Given the description of an element on the screen output the (x, y) to click on. 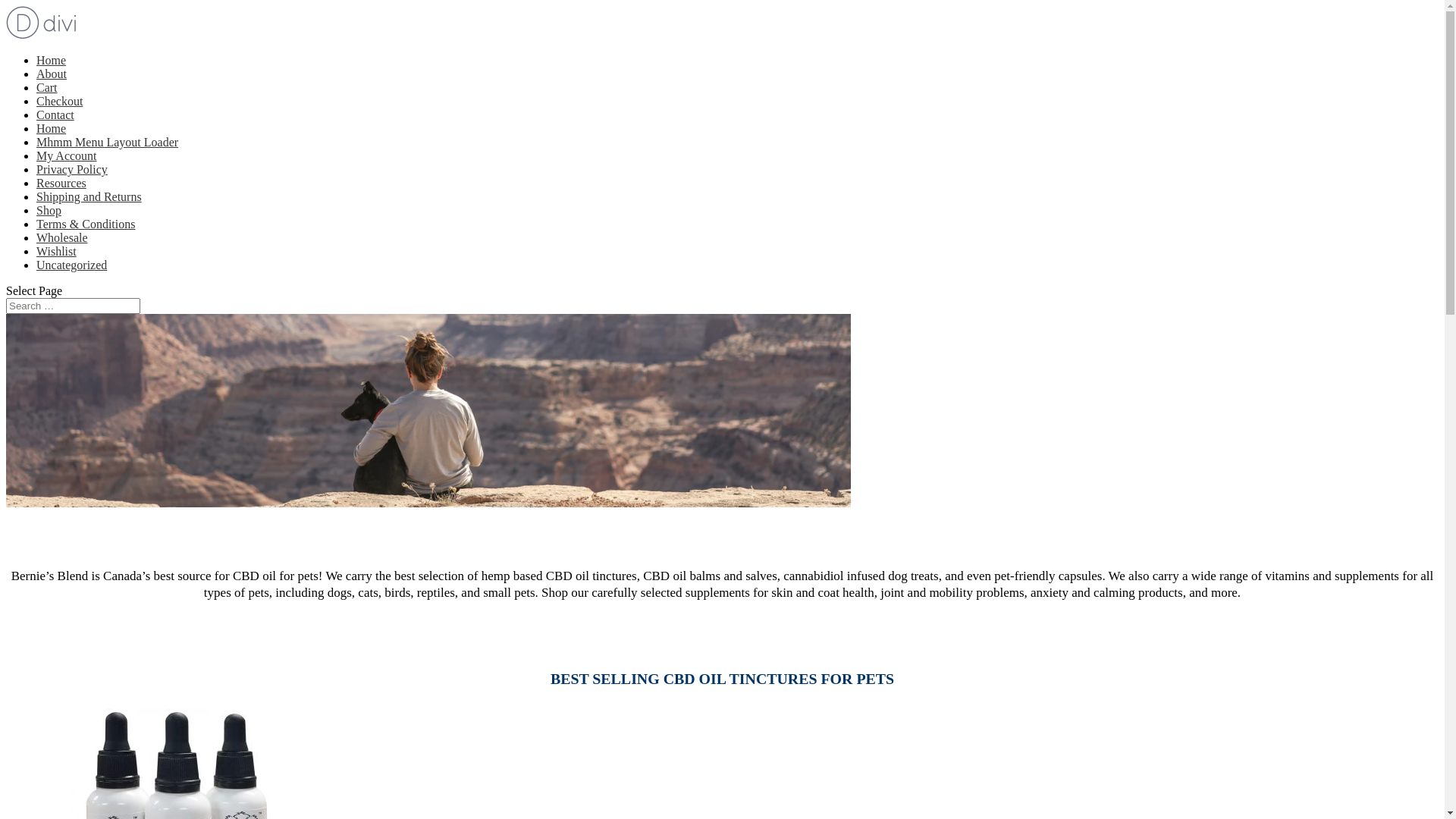
Wholesale Element type: text (61, 237)
Privacy Policy Element type: text (71, 169)
Cart Element type: text (46, 87)
Wishlist Element type: text (56, 250)
Shop Element type: text (48, 209)
Terms & Conditions Element type: text (85, 223)
Mhmm Menu Layout Loader Element type: text (107, 141)
Uncategorized Element type: text (71, 264)
About Element type: text (51, 73)
Home Element type: text (50, 128)
Search for: Element type: hover (73, 305)
My Account Element type: text (66, 155)
Resources Element type: text (61, 182)
Home Element type: text (50, 59)
Checkout Element type: text (59, 100)
Shipping and Returns Element type: text (88, 196)
Contact Element type: text (55, 114)
